Given the description of an element on the screen output the (x, y) to click on. 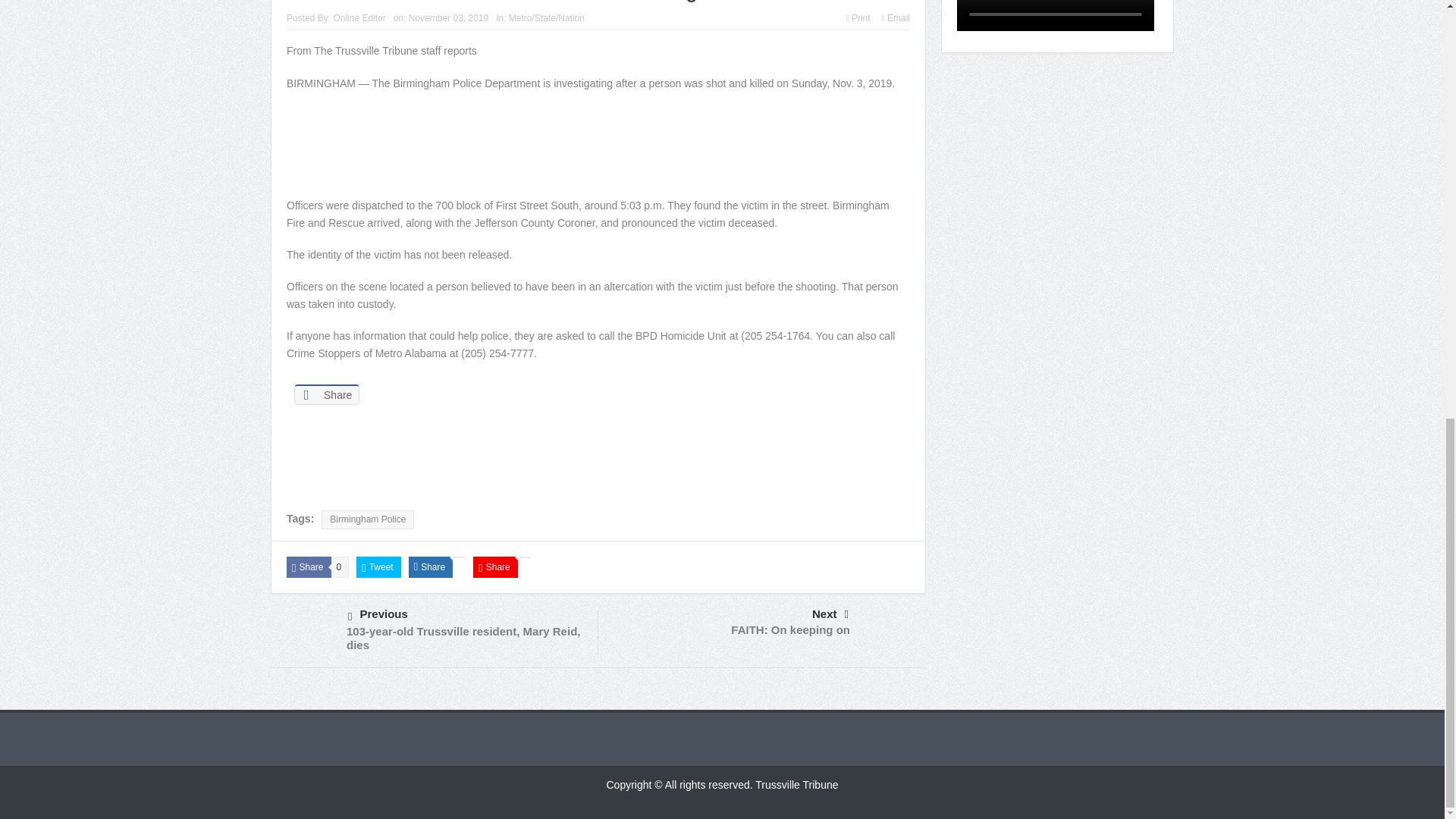
Share on Facebook (326, 394)
